Given the description of an element on the screen output the (x, y) to click on. 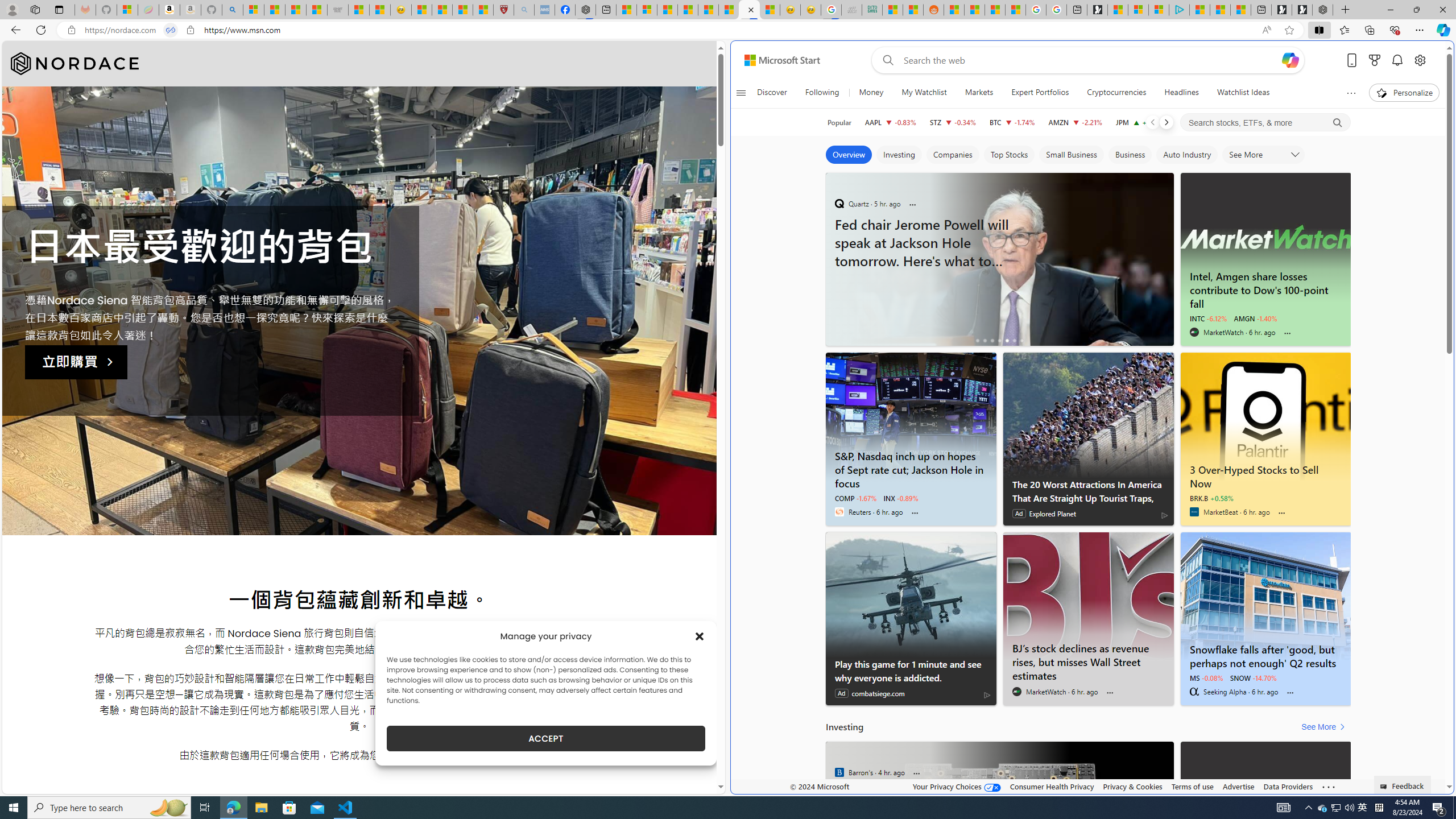
MarketWatch (1016, 691)
INX -0.89% (900, 497)
3 Over-Hyped Stocks to Sell Now - MarketBeat (1265, 416)
Seeking Alpha (1193, 691)
